Given the description of an element on the screen output the (x, y) to click on. 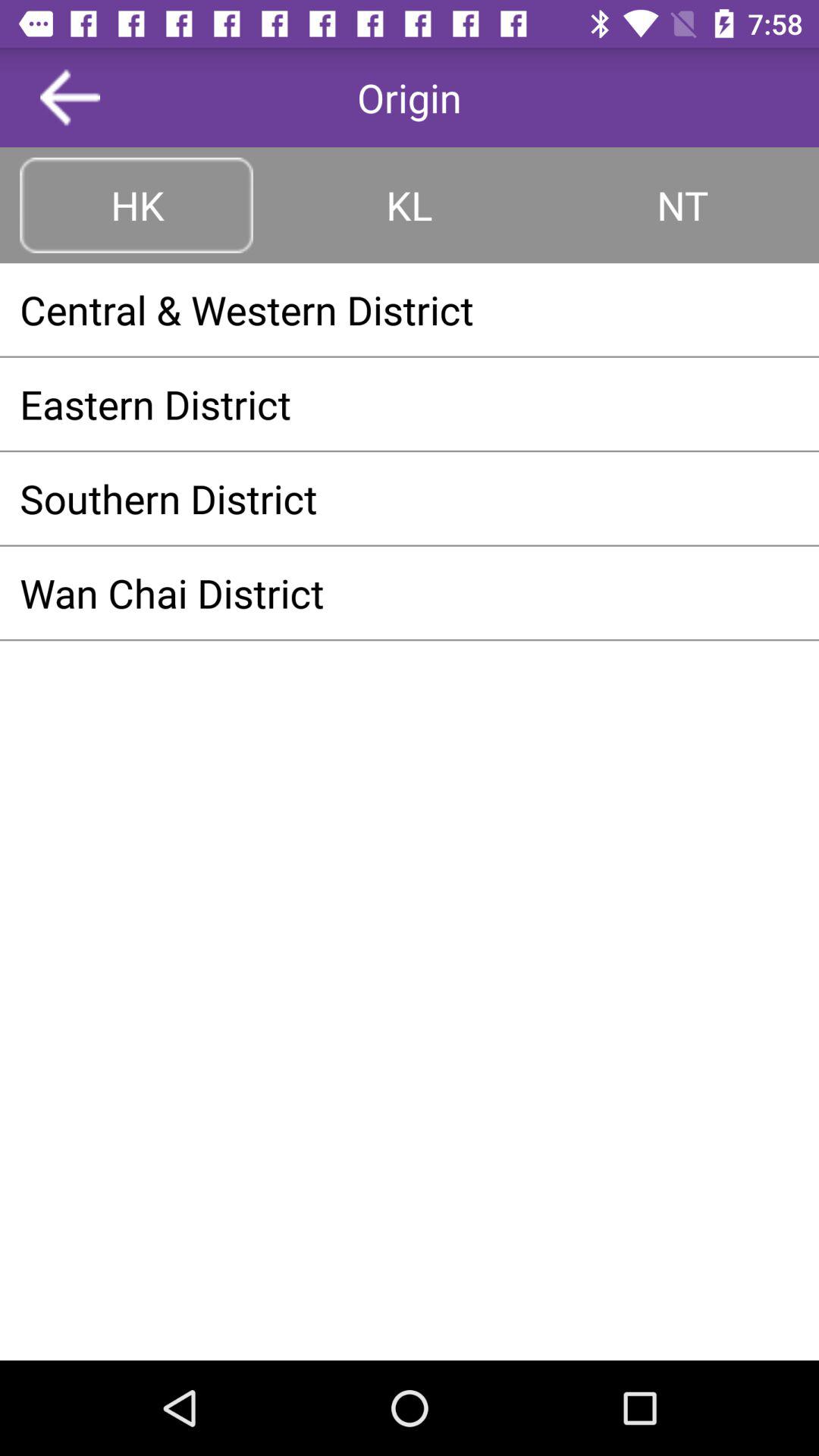
launch the icon above the southern district icon (409, 403)
